Given the description of an element on the screen output the (x, y) to click on. 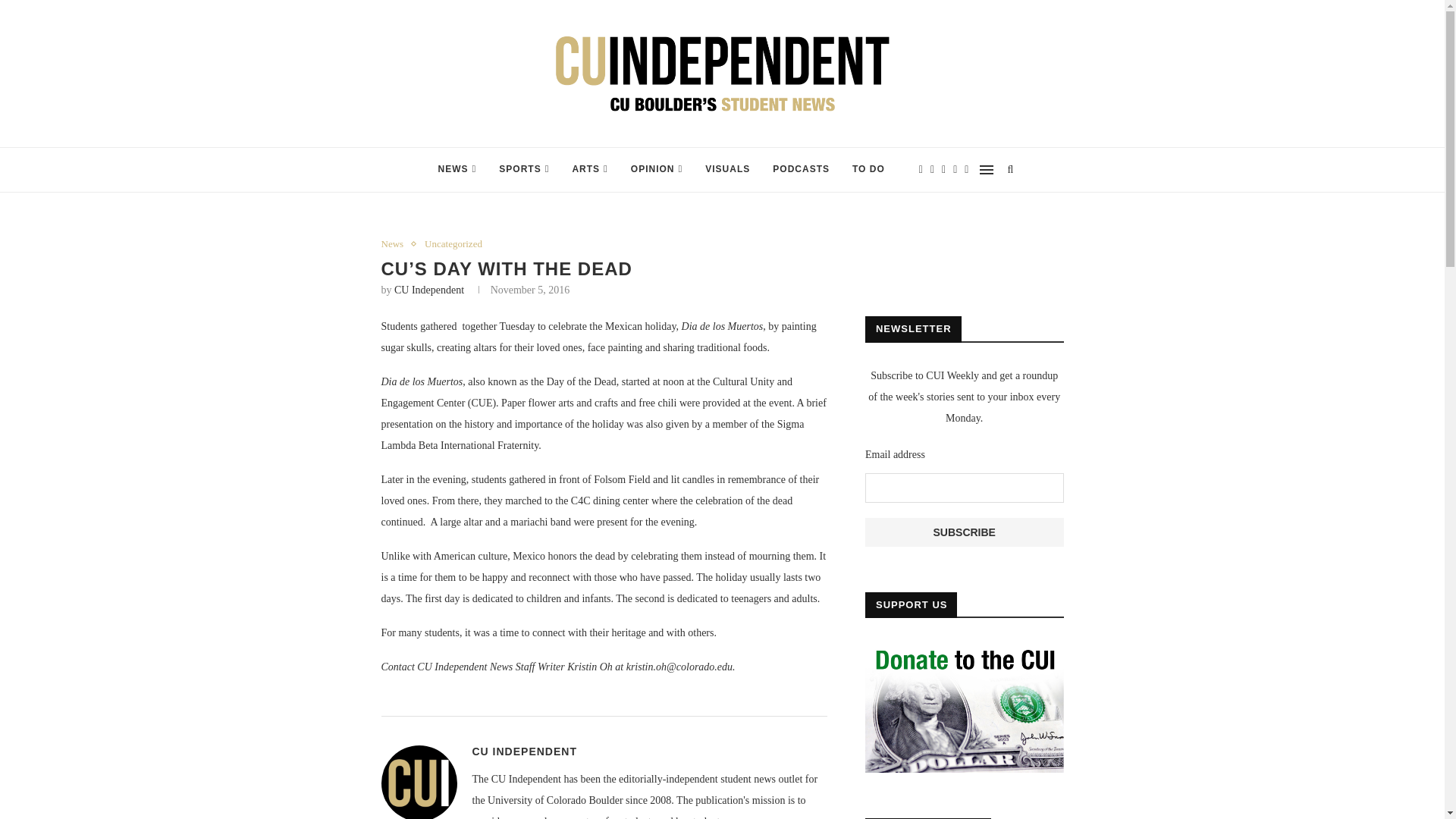
Posts by CU Independent (523, 751)
Subscribe (964, 532)
